Given the description of an element on the screen output the (x, y) to click on. 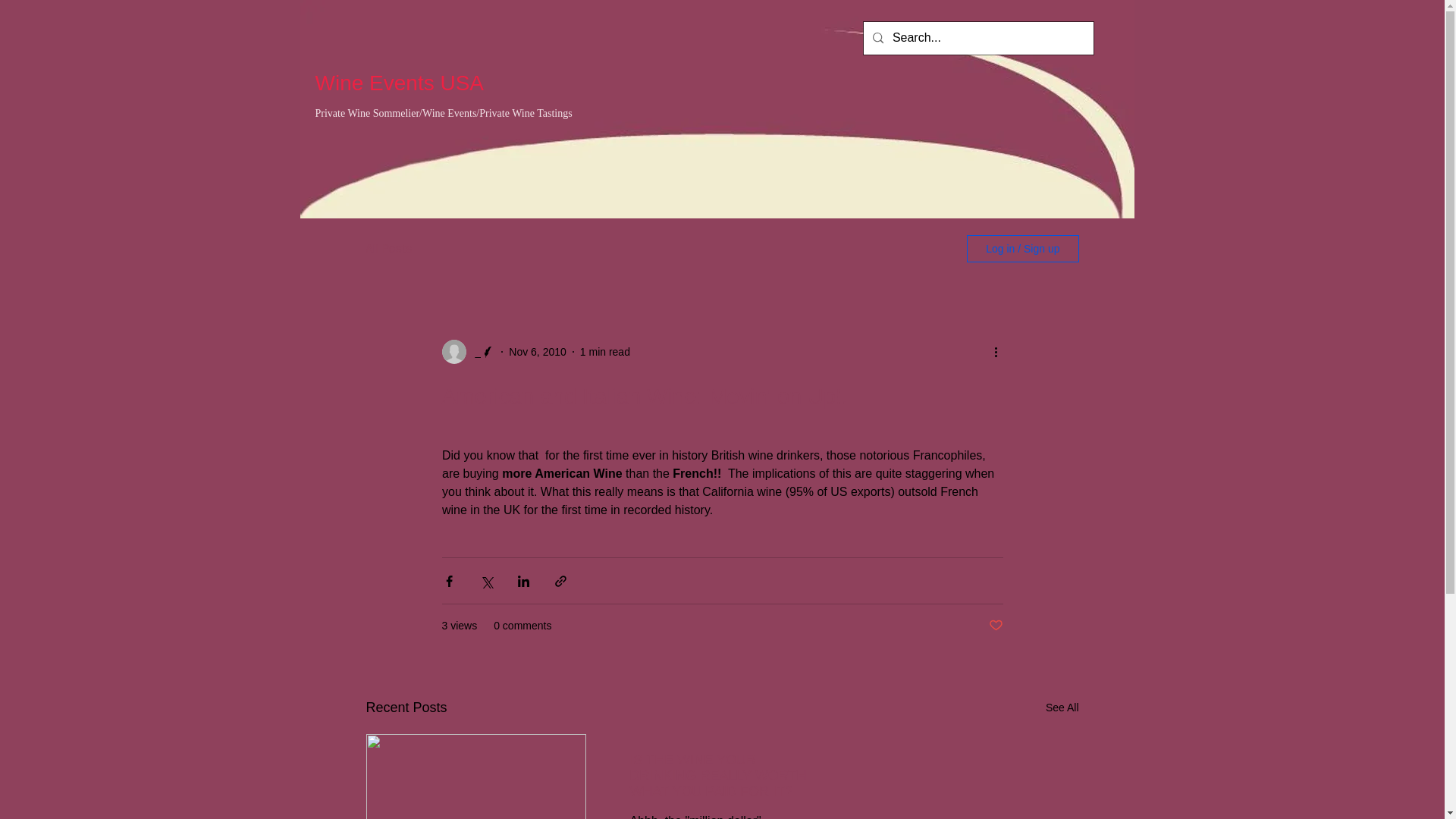
Nov 6, 2010 (537, 351)
Post not marked as liked (995, 625)
IS THE WINE YOUR DRINKING REALLY WORTH WHAT YOU PAID FOR IT? (720, 776)
See All (1061, 707)
All Posts (388, 248)
1 min read (604, 351)
